Given the description of an element on the screen output the (x, y) to click on. 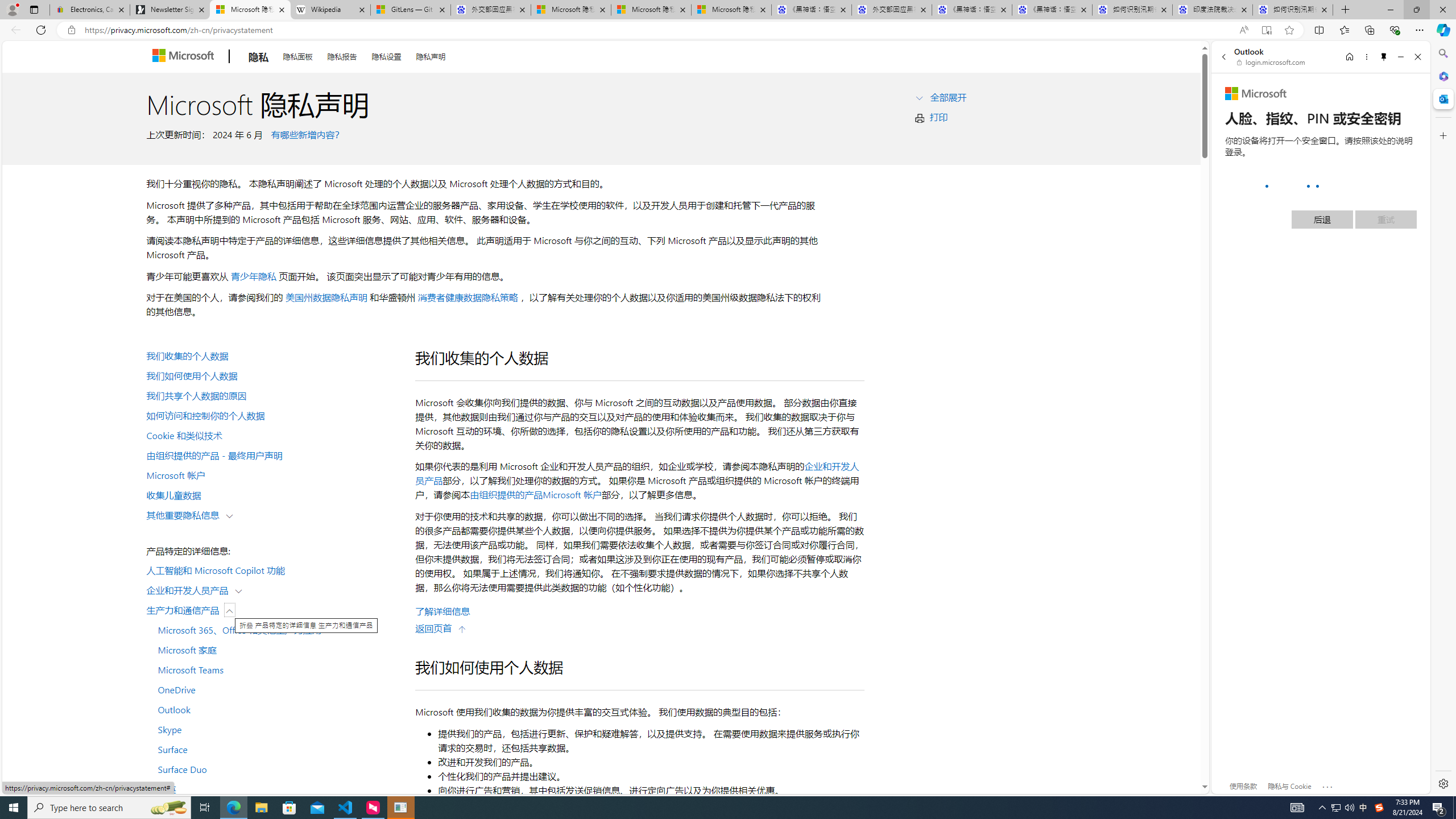
Surface Duo (274, 768)
